Given the description of an element on the screen output the (x, y) to click on. 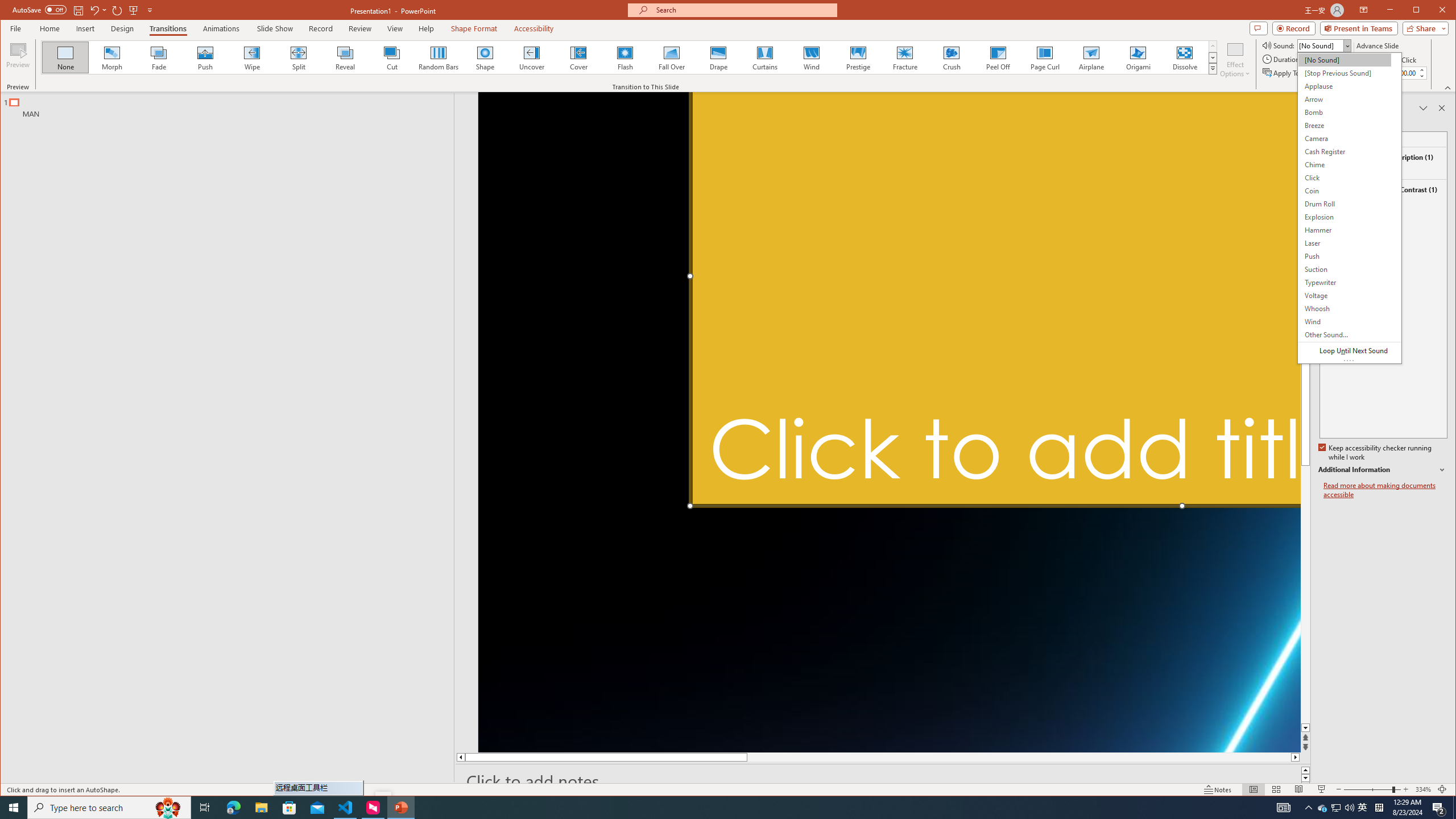
Zoom In (1405, 789)
Search highlights icon opens search home window (167, 807)
Share (1422, 27)
Sound: (1349, 207)
Minimize (1419, 11)
Home (49, 28)
Record (320, 28)
Prestige (857, 57)
Fall Over (670, 57)
Zoom to Fit  (1441, 789)
Task Pane Options (1422, 107)
User Promoted Notification Area (1336, 807)
Drape (717, 57)
Zoom (1362, 807)
